Given the description of an element on the screen output the (x, y) to click on. 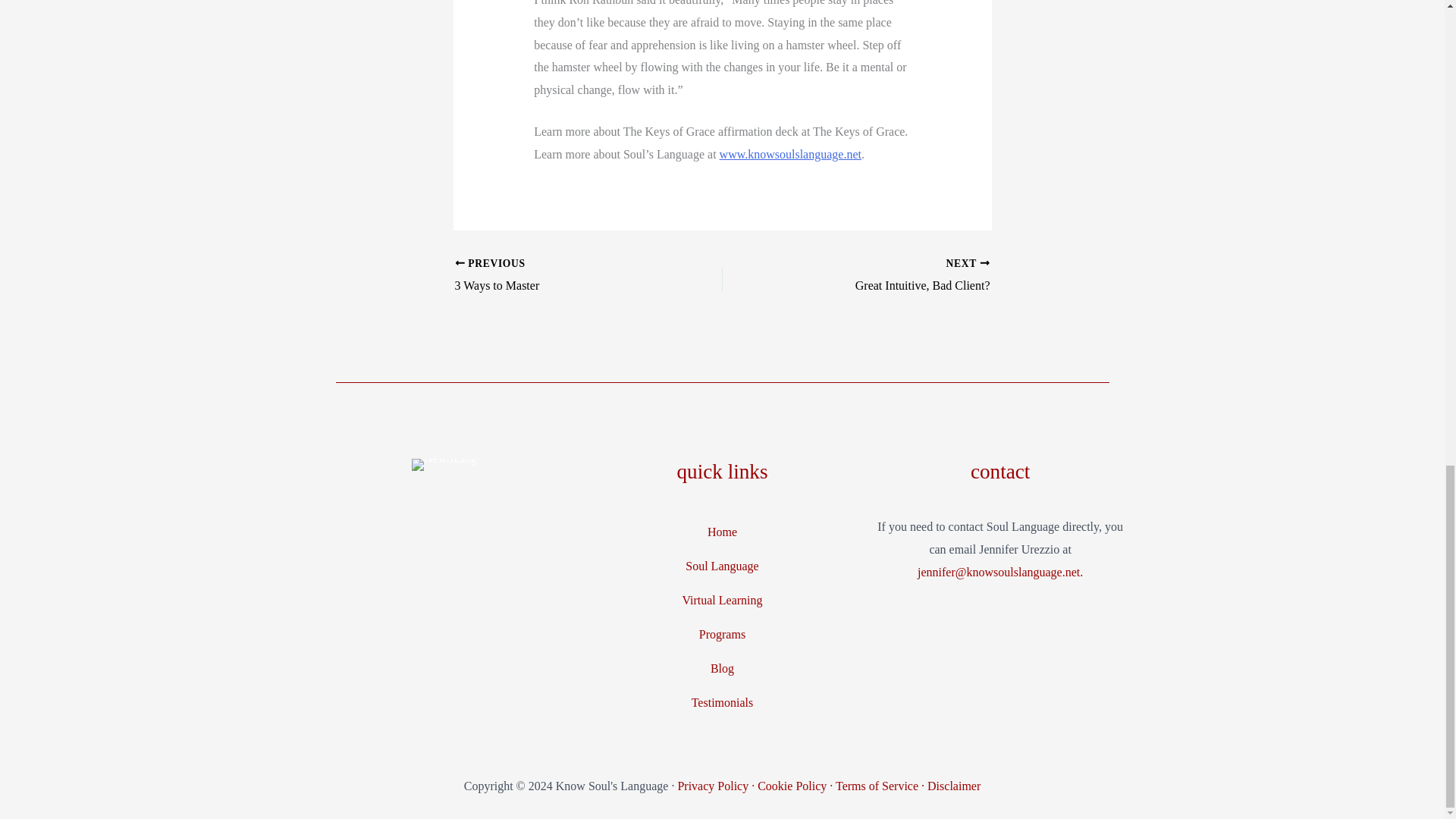
Great Intuitive, Bad Client? (882, 275)
3 Ways to Master (561, 275)
NewSLlog (444, 464)
